Given the description of an element on the screen output the (x, y) to click on. 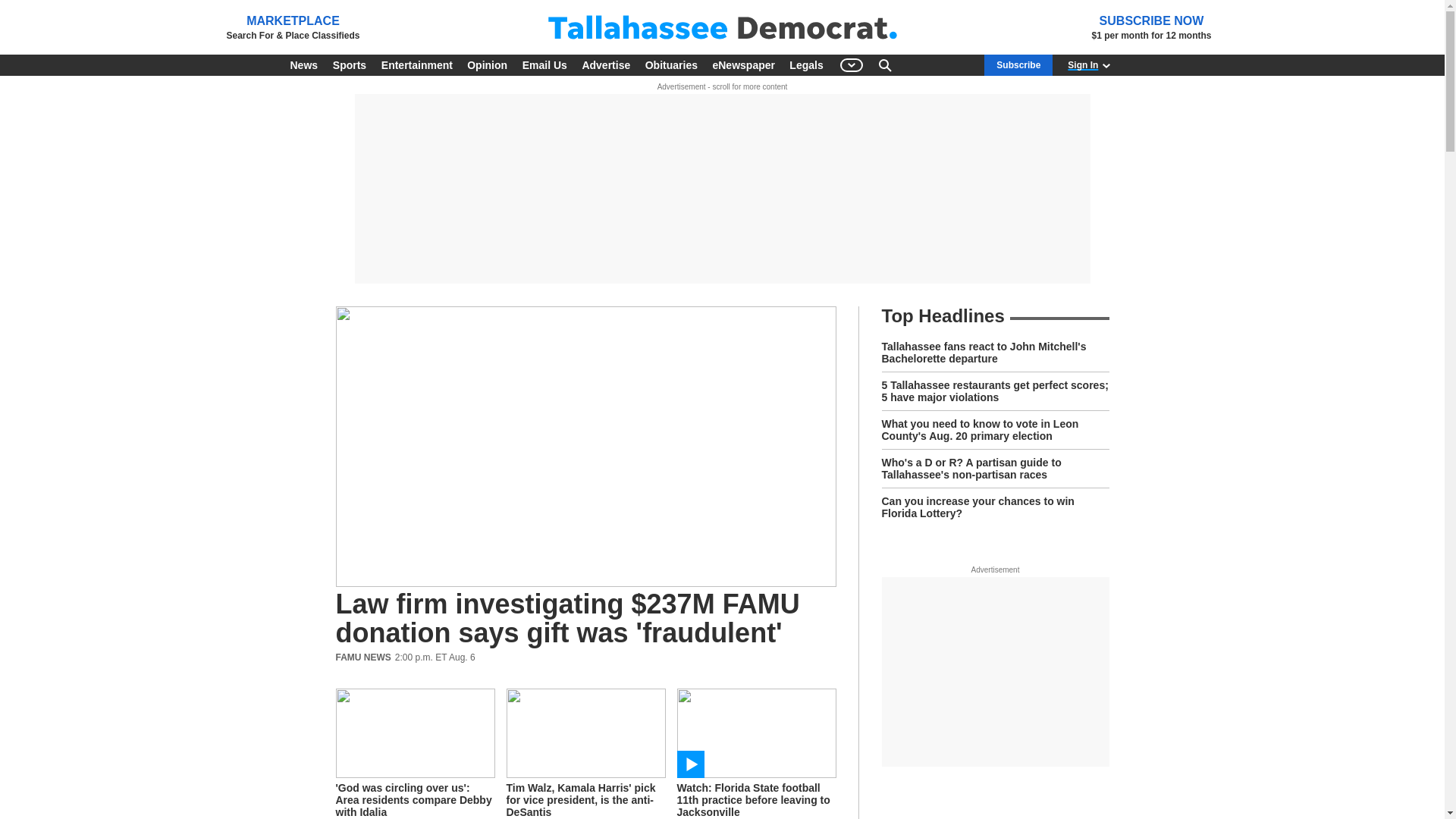
eNewspaper (742, 65)
Advertise (605, 65)
Opinion (486, 65)
Search (885, 65)
3rd party ad content (994, 671)
Email Us (545, 65)
Obituaries (670, 65)
